Given the description of an element on the screen output the (x, y) to click on. 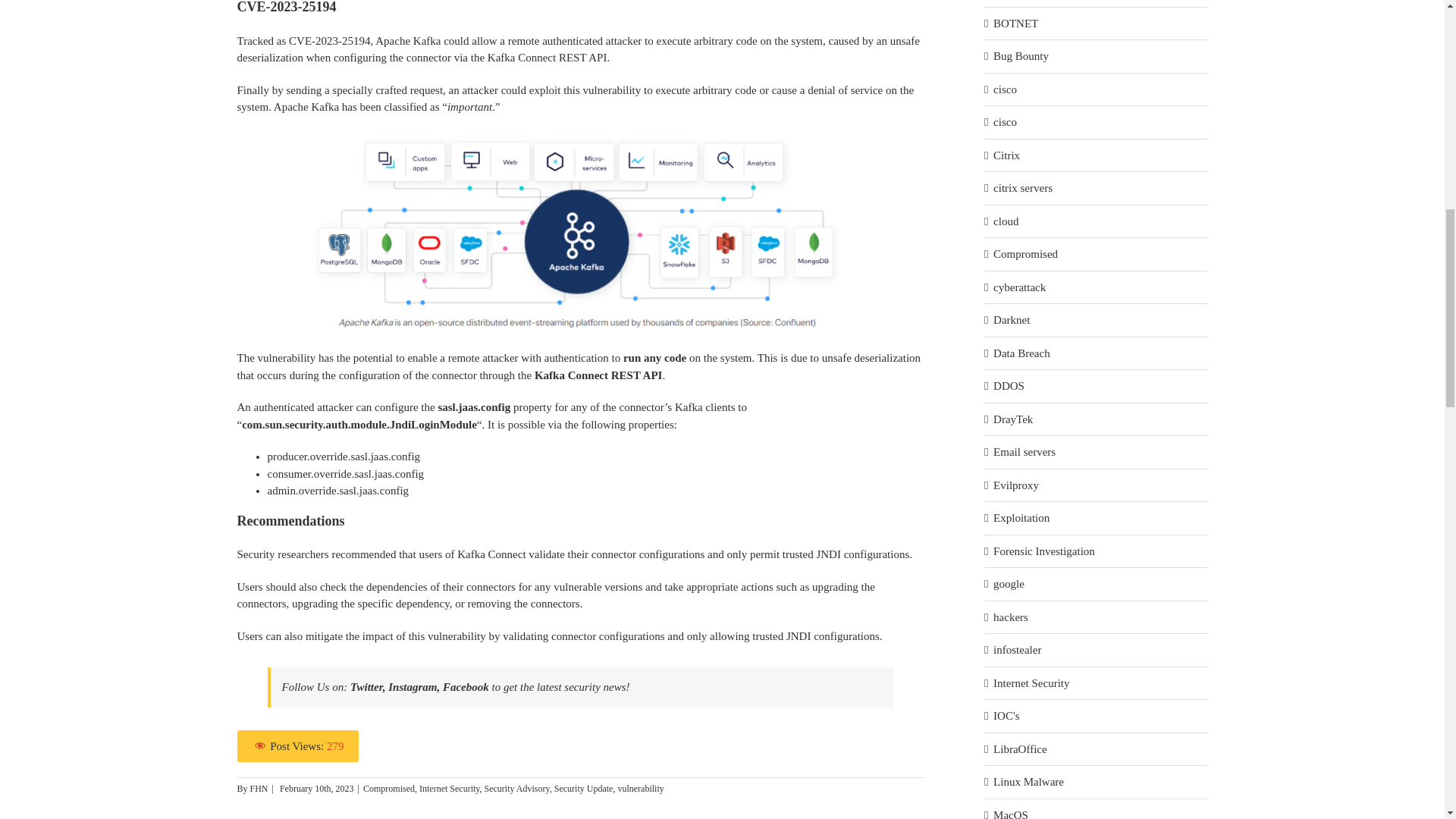
vulnerability (640, 787)
 Instagram (410, 686)
Security Advisory (517, 787)
Facebook (465, 686)
Posts by FHN (258, 787)
FHN (258, 787)
Internet Security (449, 787)
Compromised (388, 787)
Twitter (366, 686)
Security Update (583, 787)
